Given the description of an element on the screen output the (x, y) to click on. 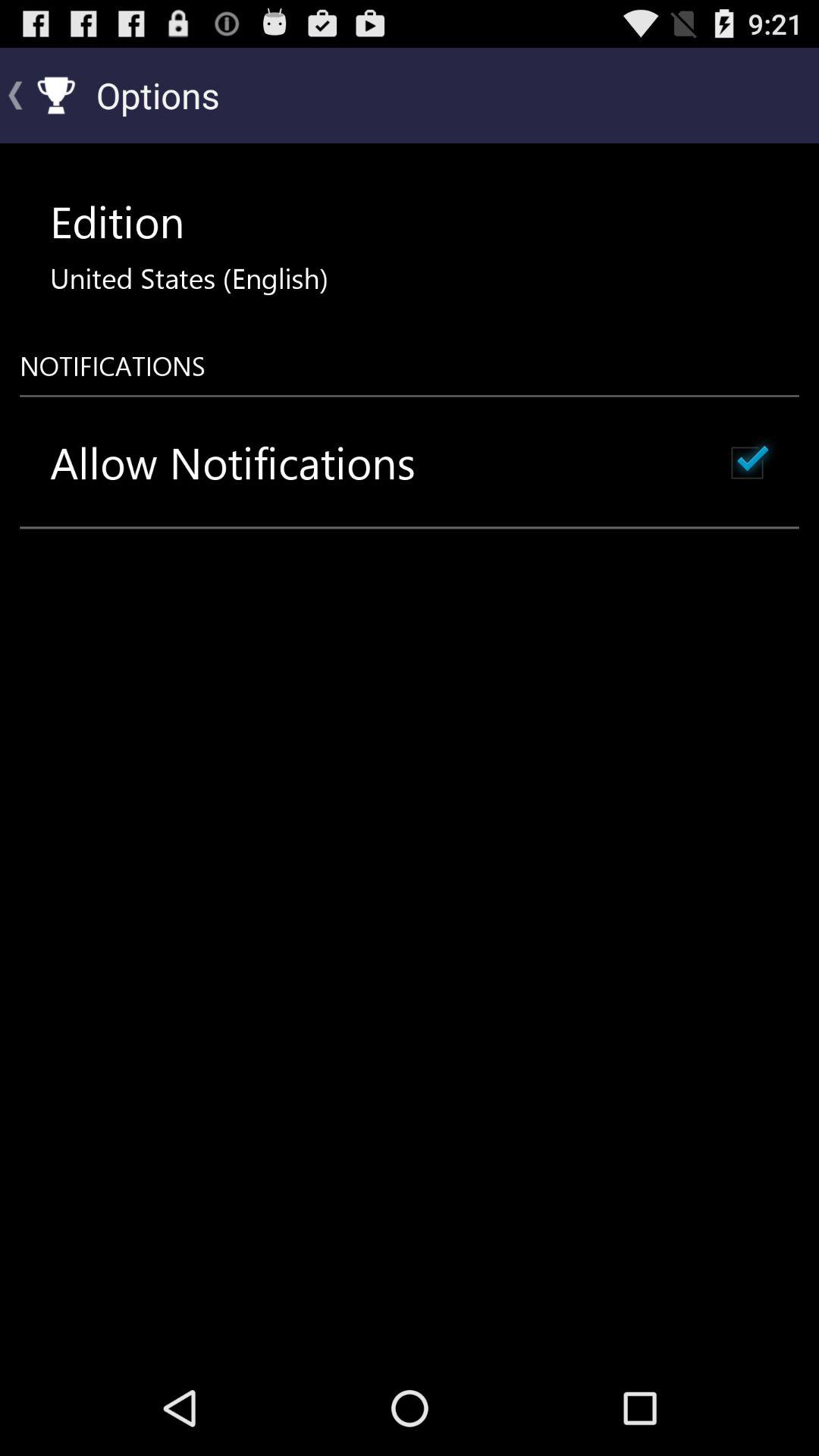
open the item below notifications item (747, 462)
